Given the description of an element on the screen output the (x, y) to click on. 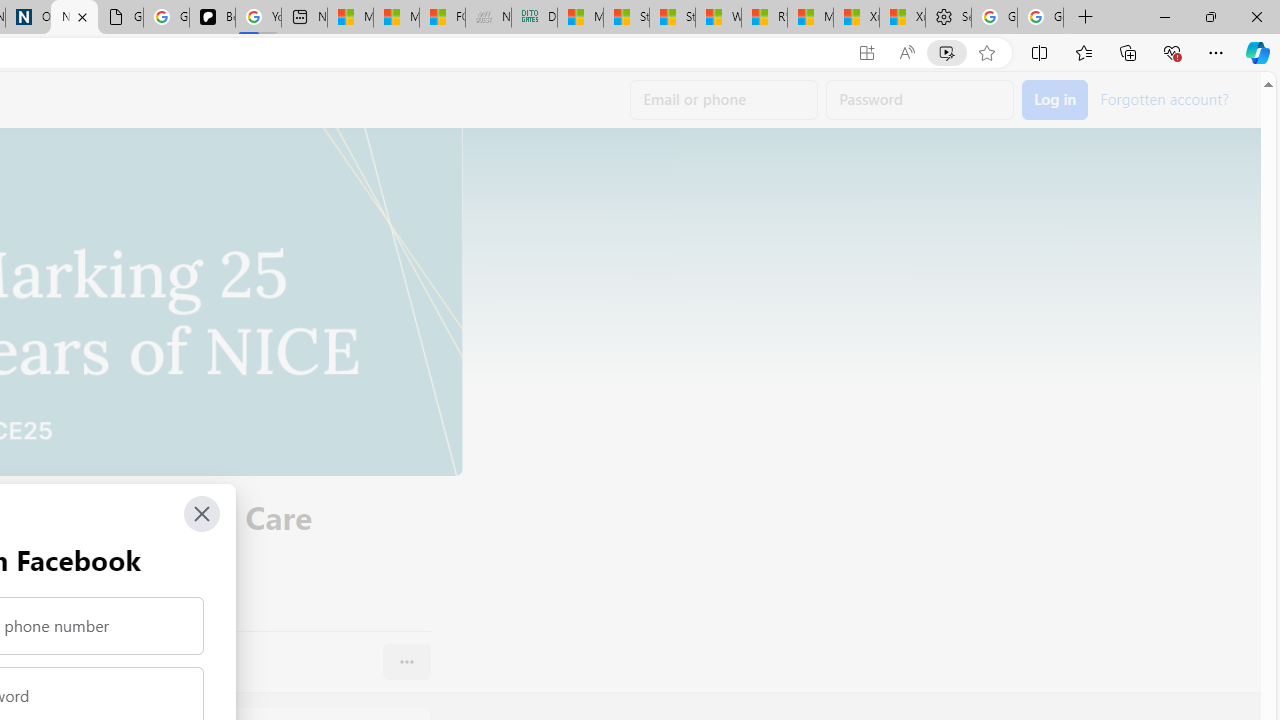
DITOGAMES AG Imprint (534, 17)
